Given the description of an element on the screen output the (x, y) to click on. 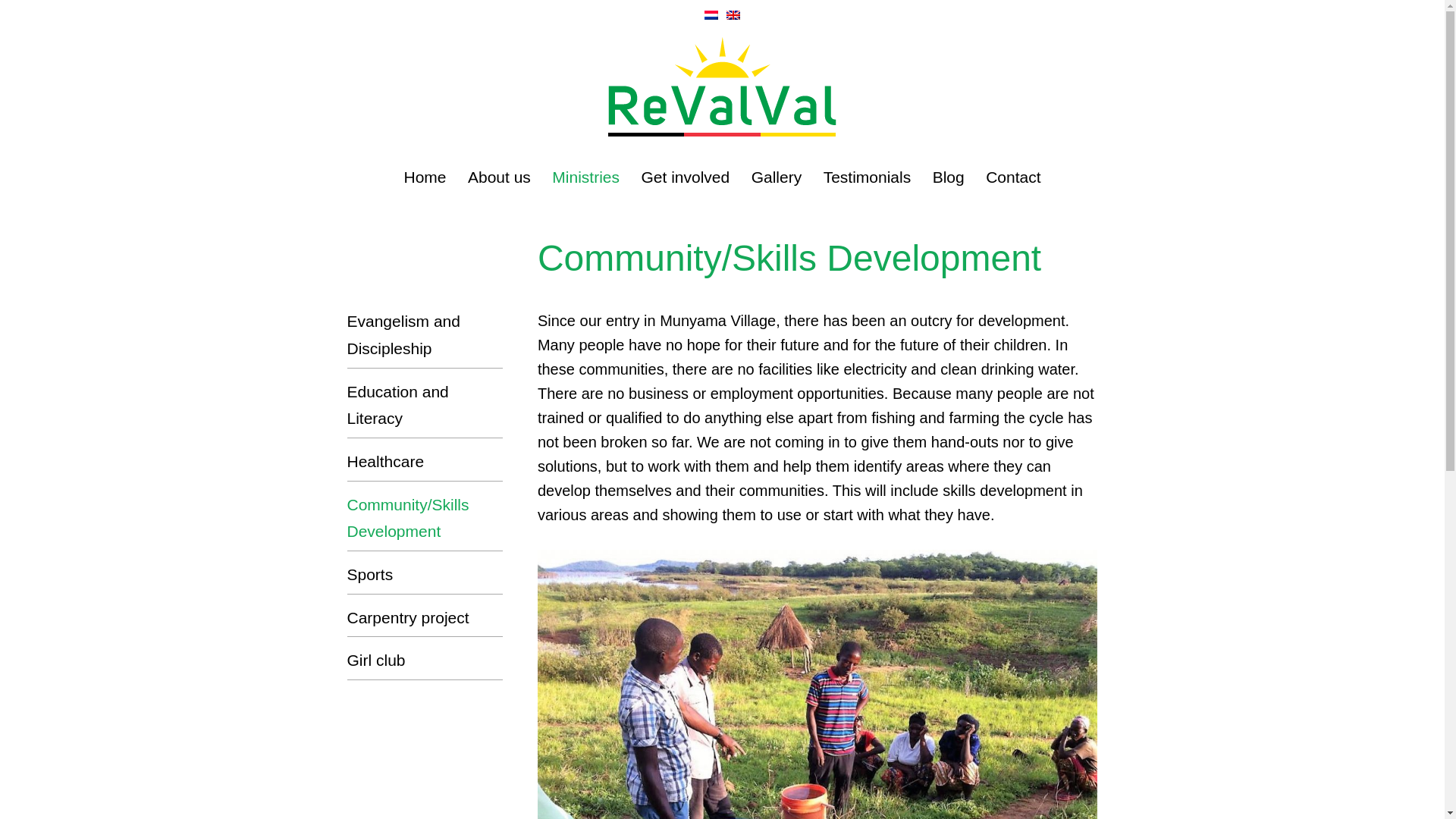
Ministries (585, 177)
Contact (1013, 177)
Education and Literacy (425, 405)
Girl club (425, 660)
Carpentry project (425, 617)
Gallery (776, 177)
Testimonials (867, 177)
Evangelism and Discipleship (425, 334)
Home (424, 177)
Blog (948, 177)
Get involved (684, 177)
Healthcare (425, 461)
Sports (425, 574)
About us (499, 177)
